Given the description of an element on the screen output the (x, y) to click on. 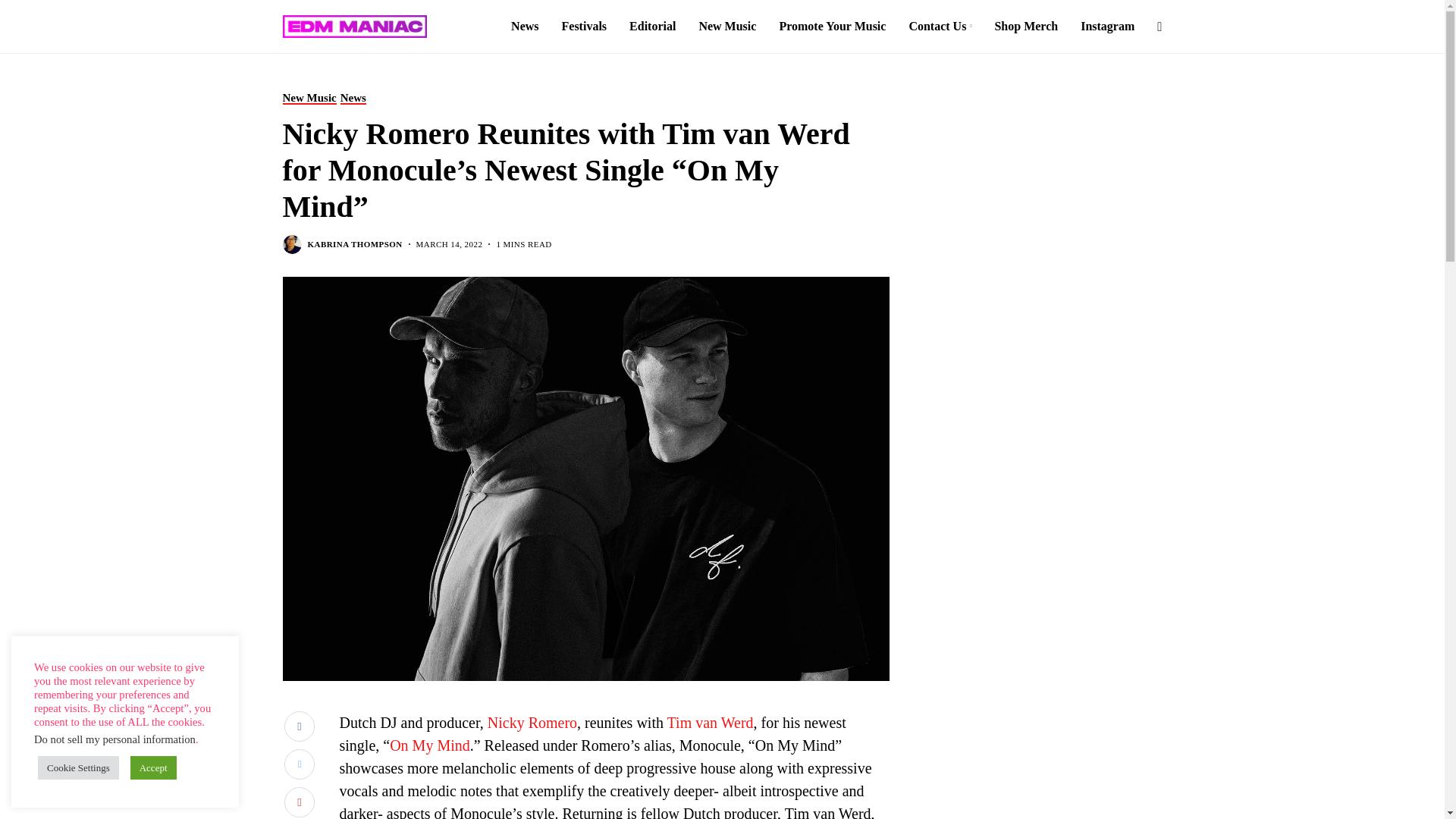
Instagram (1107, 26)
New Music (309, 97)
New Music (726, 26)
Advertisement (1040, 696)
Shop Merch (1026, 26)
Contact Us (939, 26)
News (353, 97)
KABRINA THOMPSON (355, 244)
Posts by Kabrina Thompson (355, 244)
Promote Your Music (831, 26)
